Given the description of an element on the screen output the (x, y) to click on. 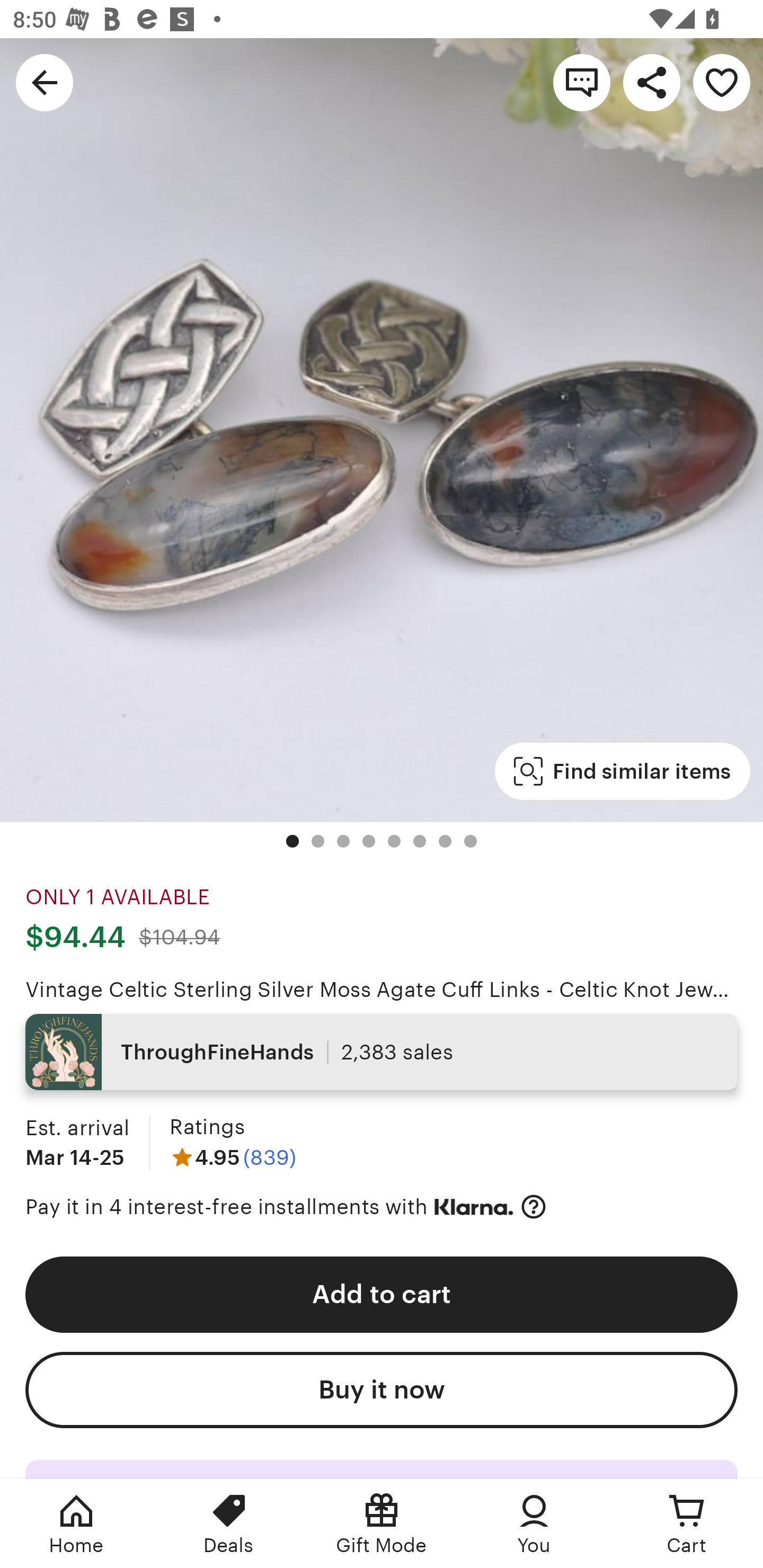
Navigate up (44, 81)
Contact shop (581, 81)
Share (651, 81)
Find similar items (622, 771)
ThroughFineHands 2,383 sales (381, 1051)
Ratings (206, 1126)
4.95 (839) (232, 1156)
Add to cart (381, 1293)
Buy it now (381, 1389)
Home (76, 1523)
Gift Mode (381, 1523)
You (533, 1523)
Cart (686, 1523)
